Given the description of an element on the screen output the (x, y) to click on. 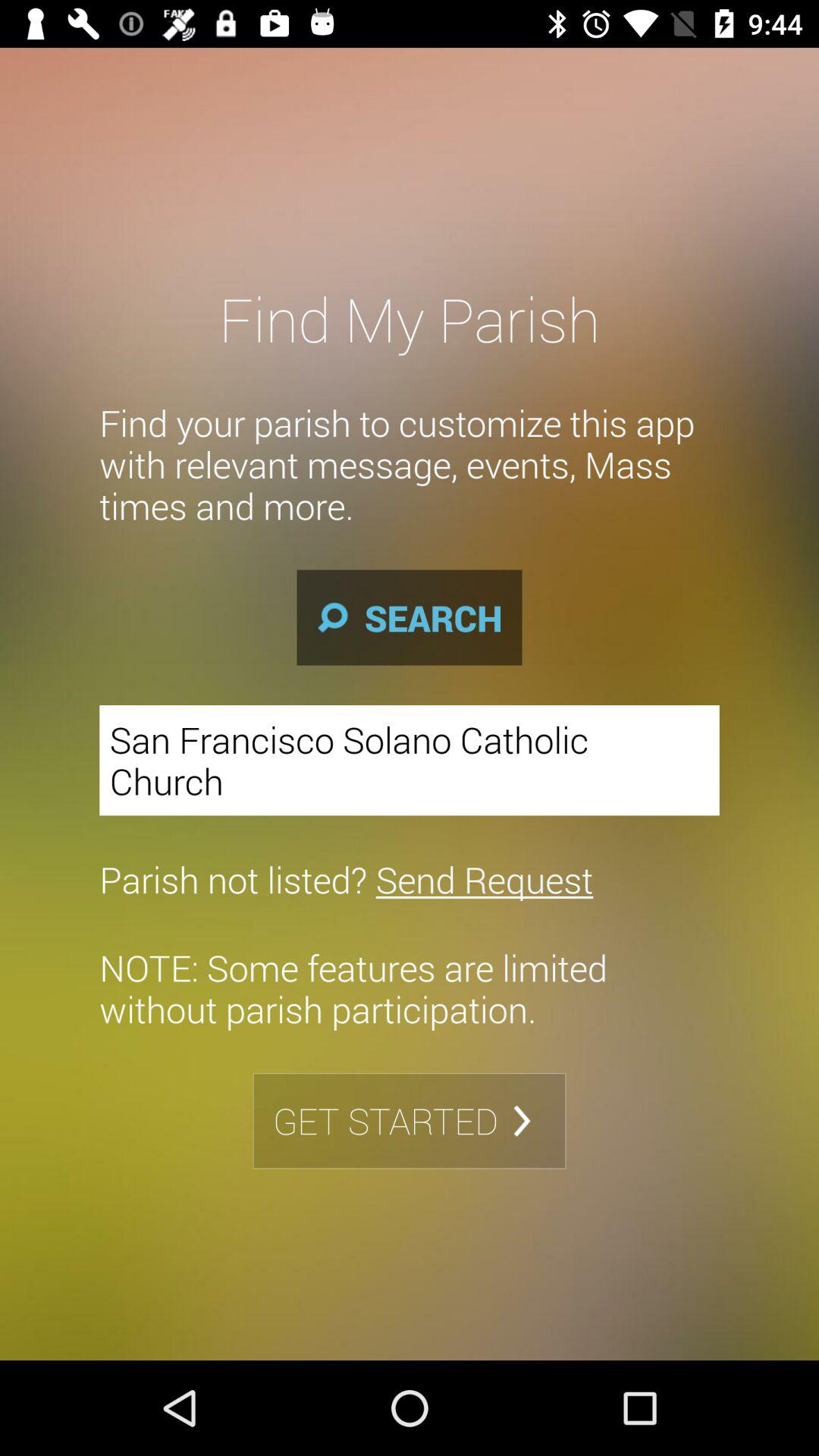
turn on the item below the note some features icon (409, 1120)
